Given the description of an element on the screen output the (x, y) to click on. 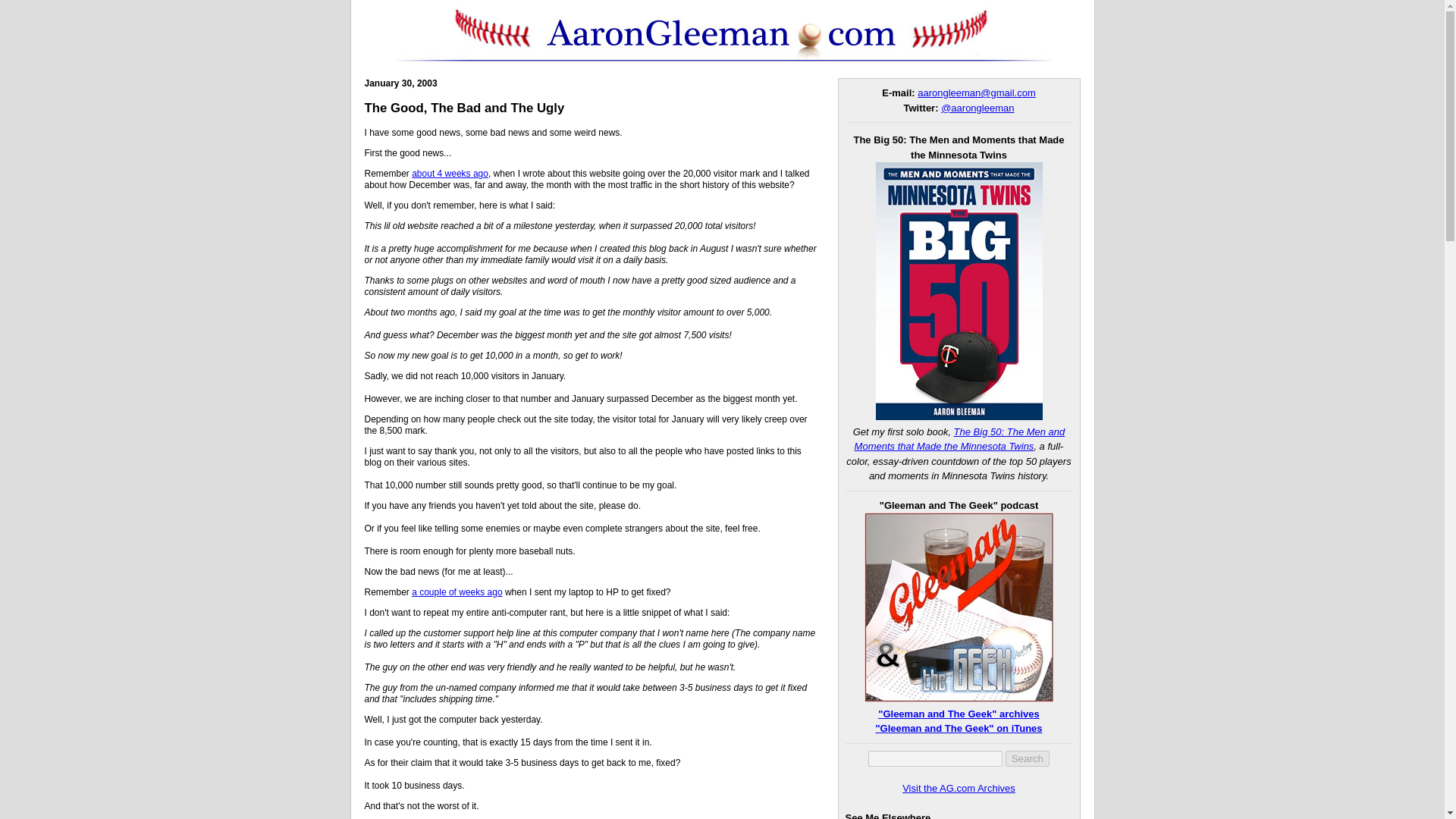
about 4 weeks ago (449, 173)
Search (1027, 758)
"Gleeman and The Geek" on iTunes (958, 727)
Visit the AG.com Archives (958, 787)
Search (1027, 758)
a couple of weeks ago (457, 592)
"Gleeman and The Geek" archives (958, 713)
